Given the description of an element on the screen output the (x, y) to click on. 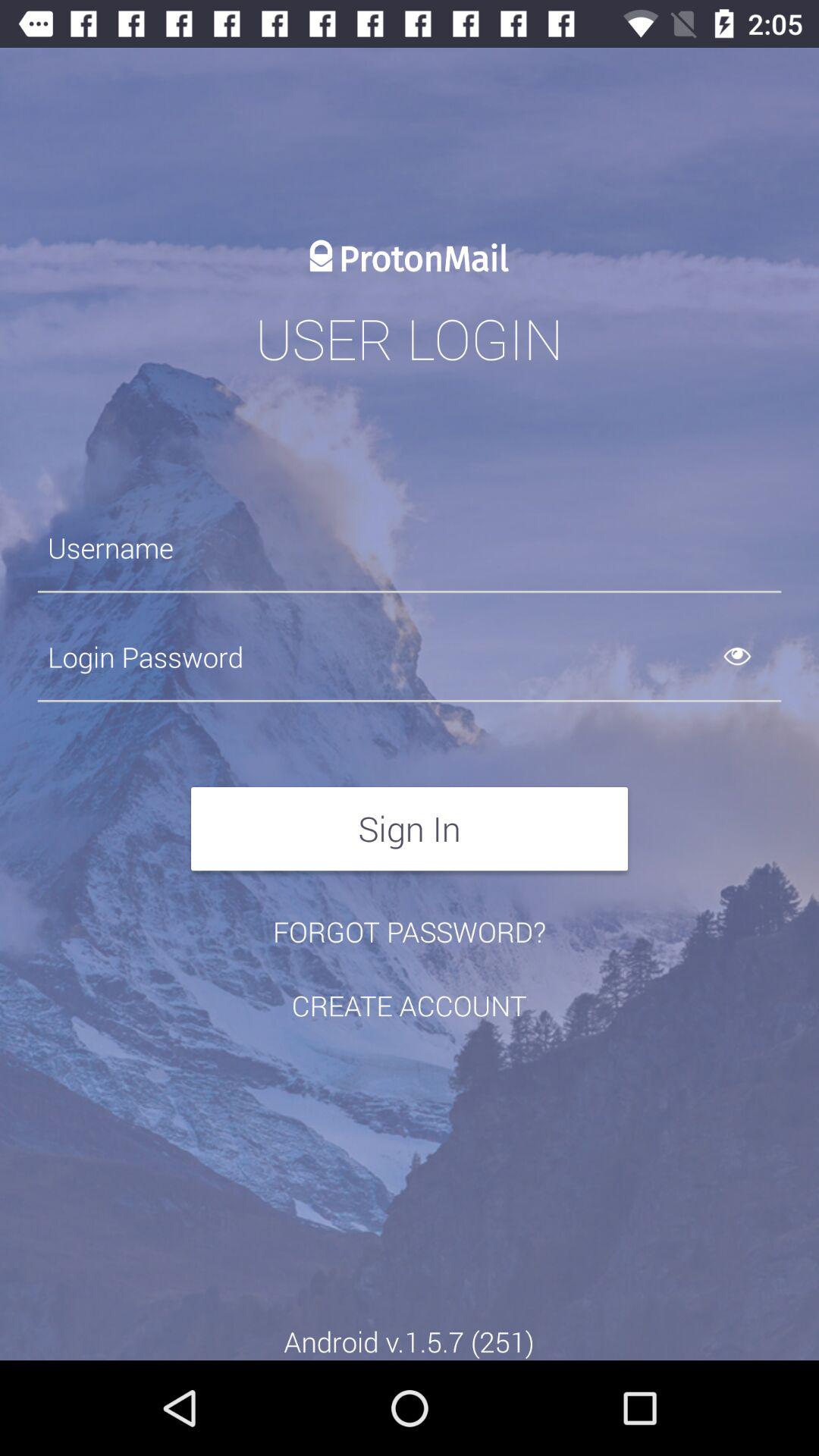
launch the item below the forgot password? (408, 1005)
